Given the description of an element on the screen output the (x, y) to click on. 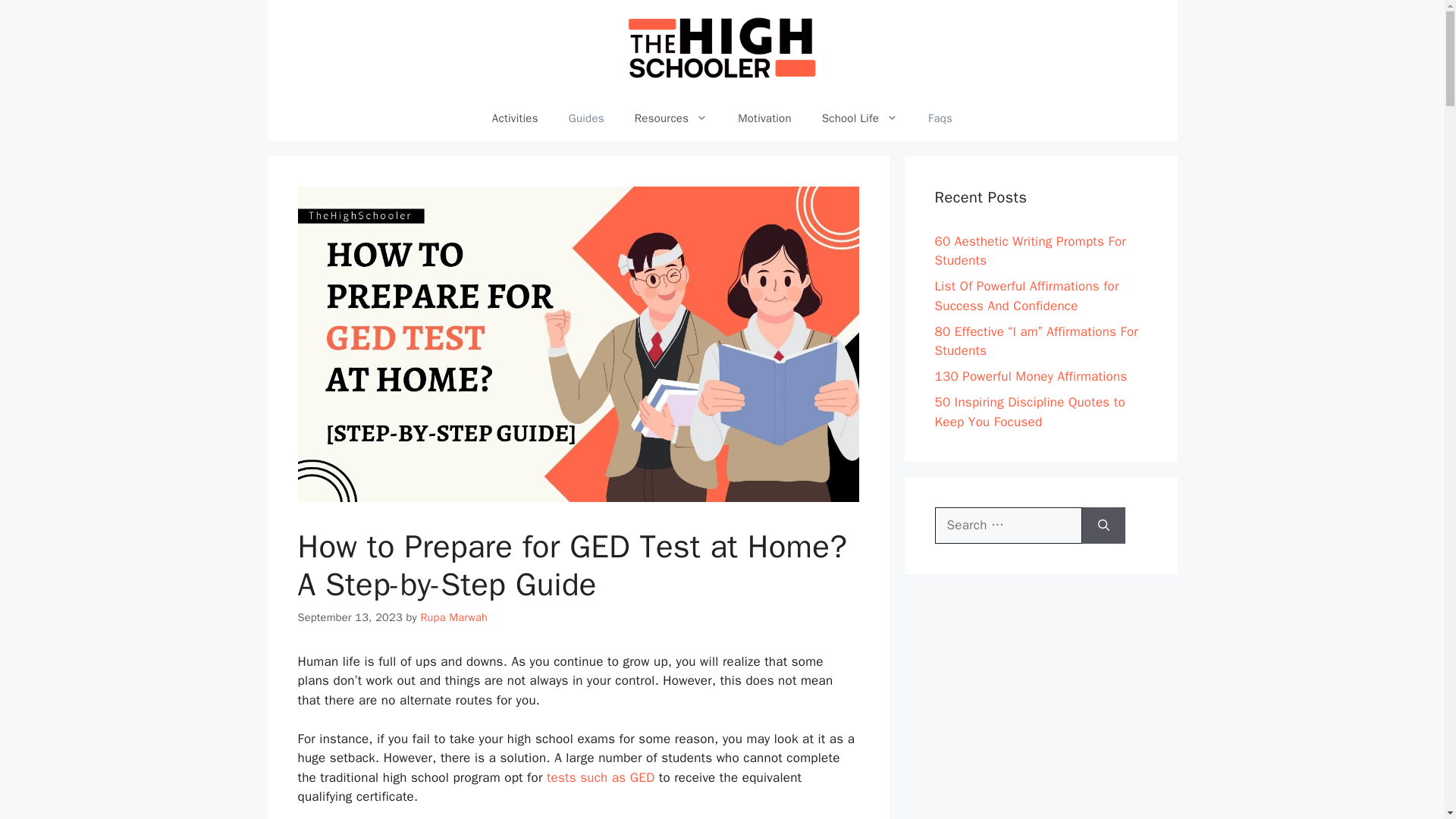
Guides (586, 117)
Rupa Marwah (453, 617)
Motivation (764, 117)
School Life (859, 117)
Resources (671, 117)
View all posts by Rupa Marwah (453, 617)
Activities (515, 117)
Faqs (940, 117)
Search for: (1007, 524)
tests such as GED (600, 777)
